Given the description of an element on the screen output the (x, y) to click on. 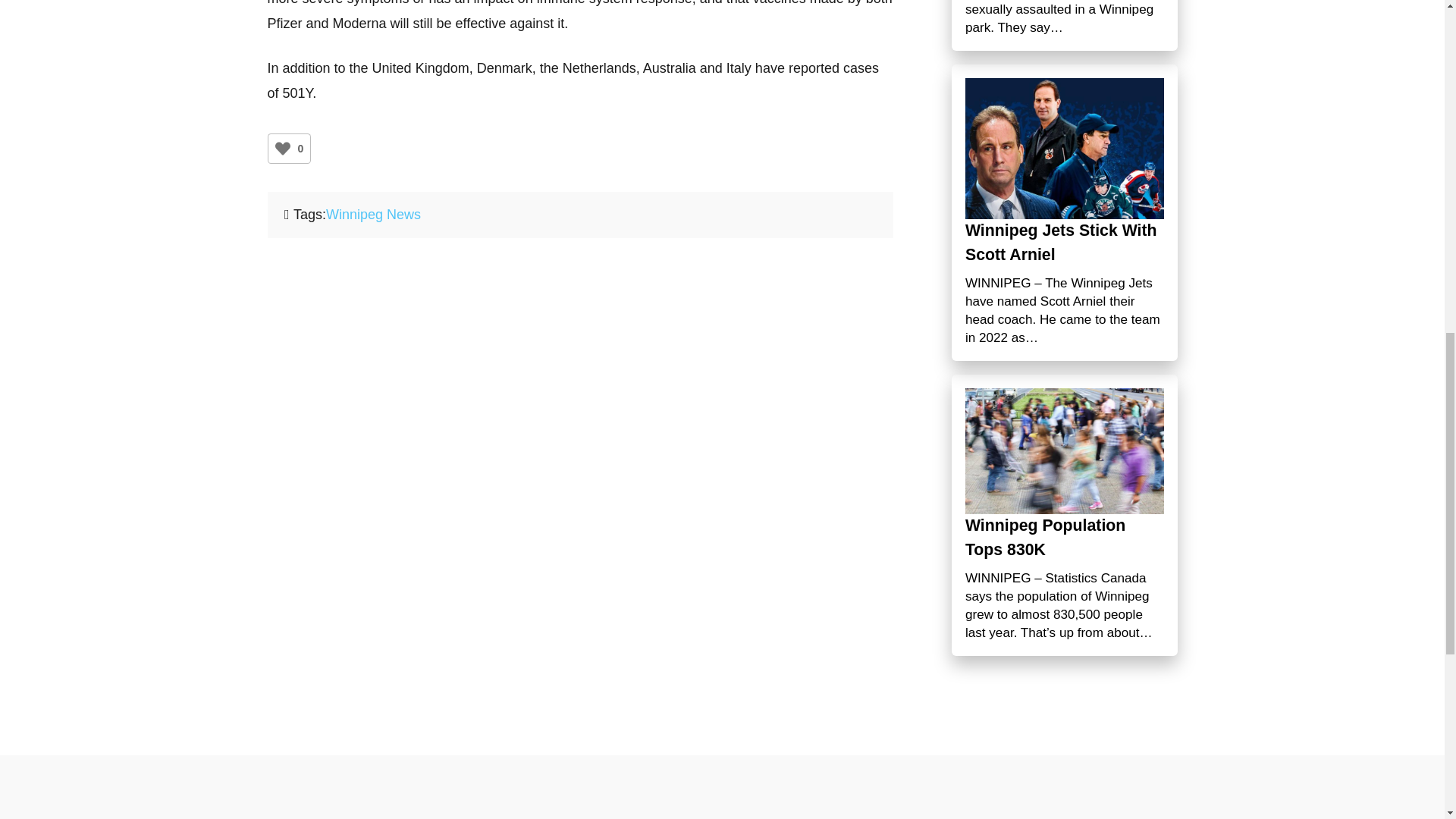
Winnipeg News (373, 214)
